Given the description of an element on the screen output the (x, y) to click on. 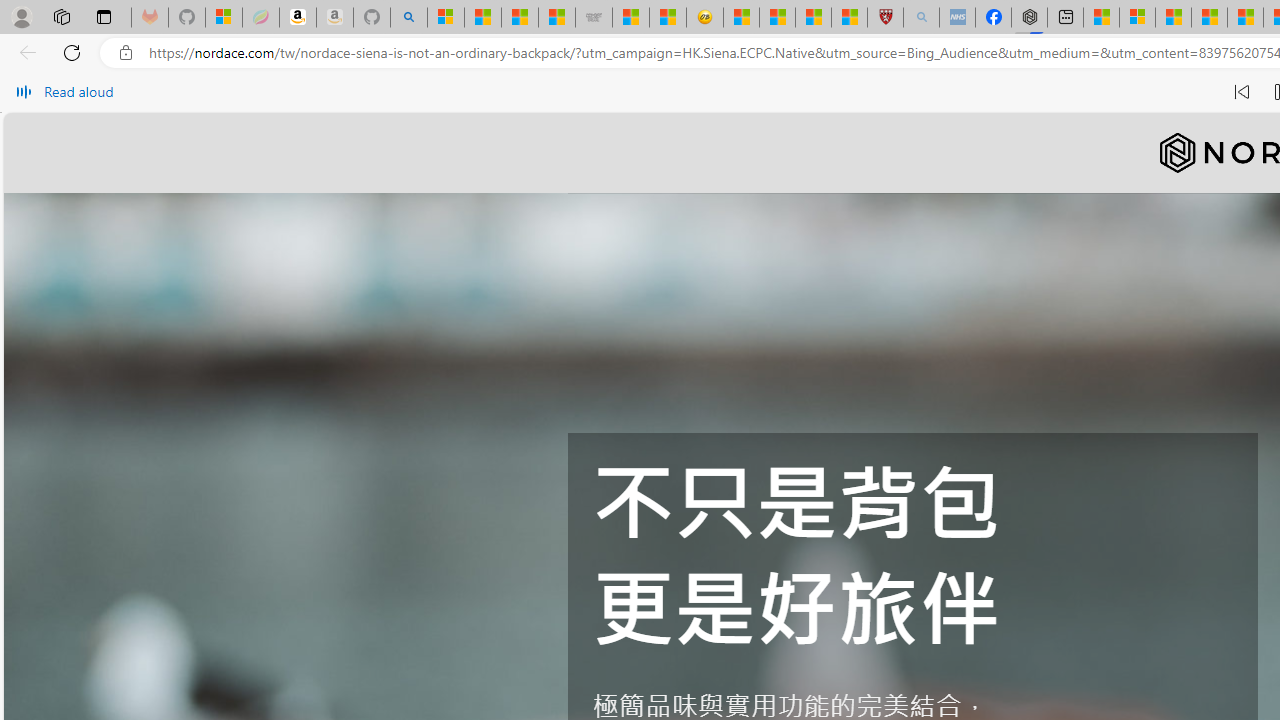
Recipes - MSN (741, 17)
12 Popular Science Lies that Must be Corrected (849, 17)
Science - MSN (813, 17)
Combat Siege (593, 17)
NCL Adult Asthma Inhaler Choice Guideline - Sleeping (957, 17)
Fitness - MSN (1245, 17)
Read previous paragraph (1241, 92)
